Given the description of an element on the screen output the (x, y) to click on. 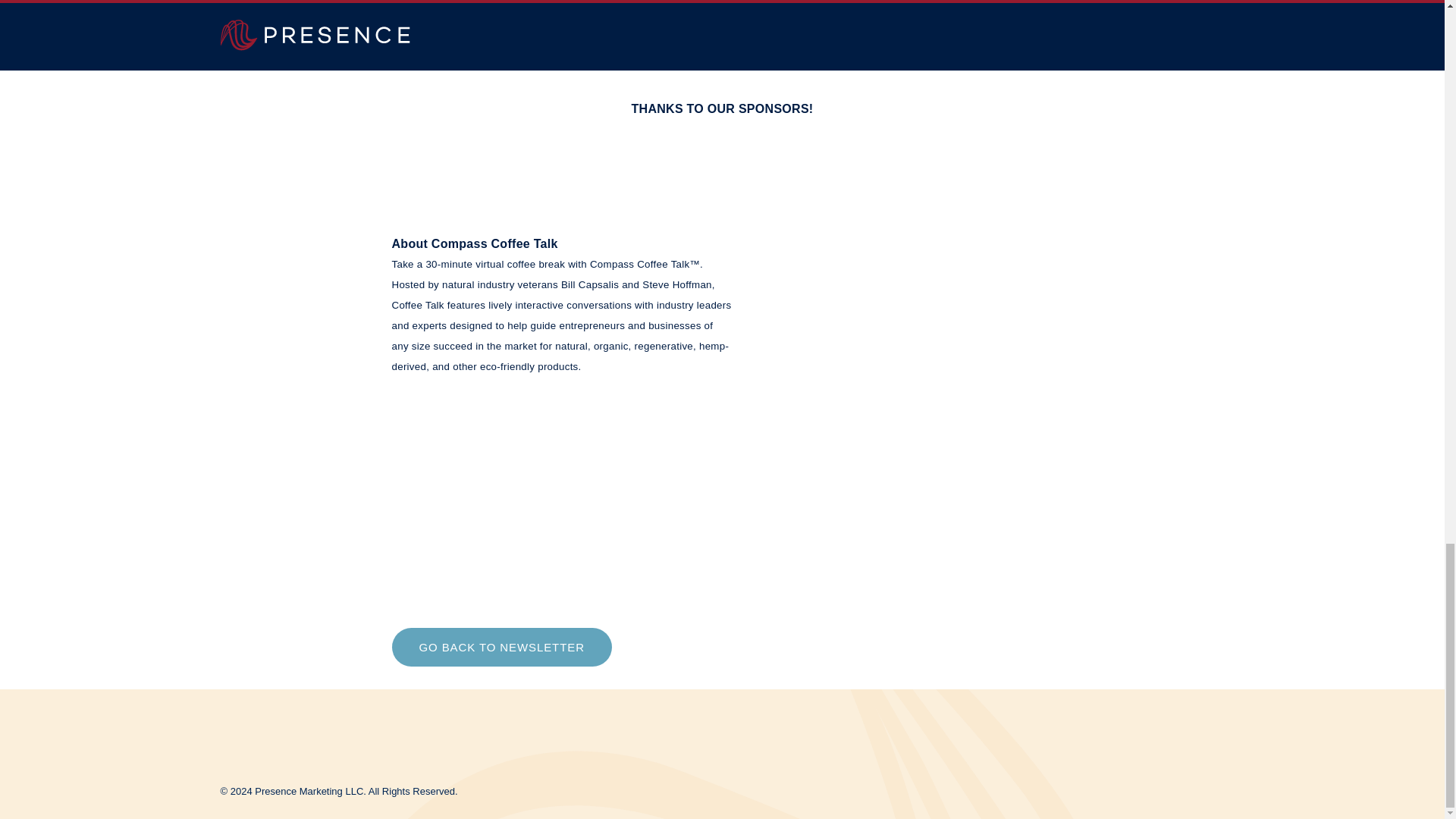
GO BACK TO NEWSLETTER (501, 647)
